Given the description of an element on the screen output the (x, y) to click on. 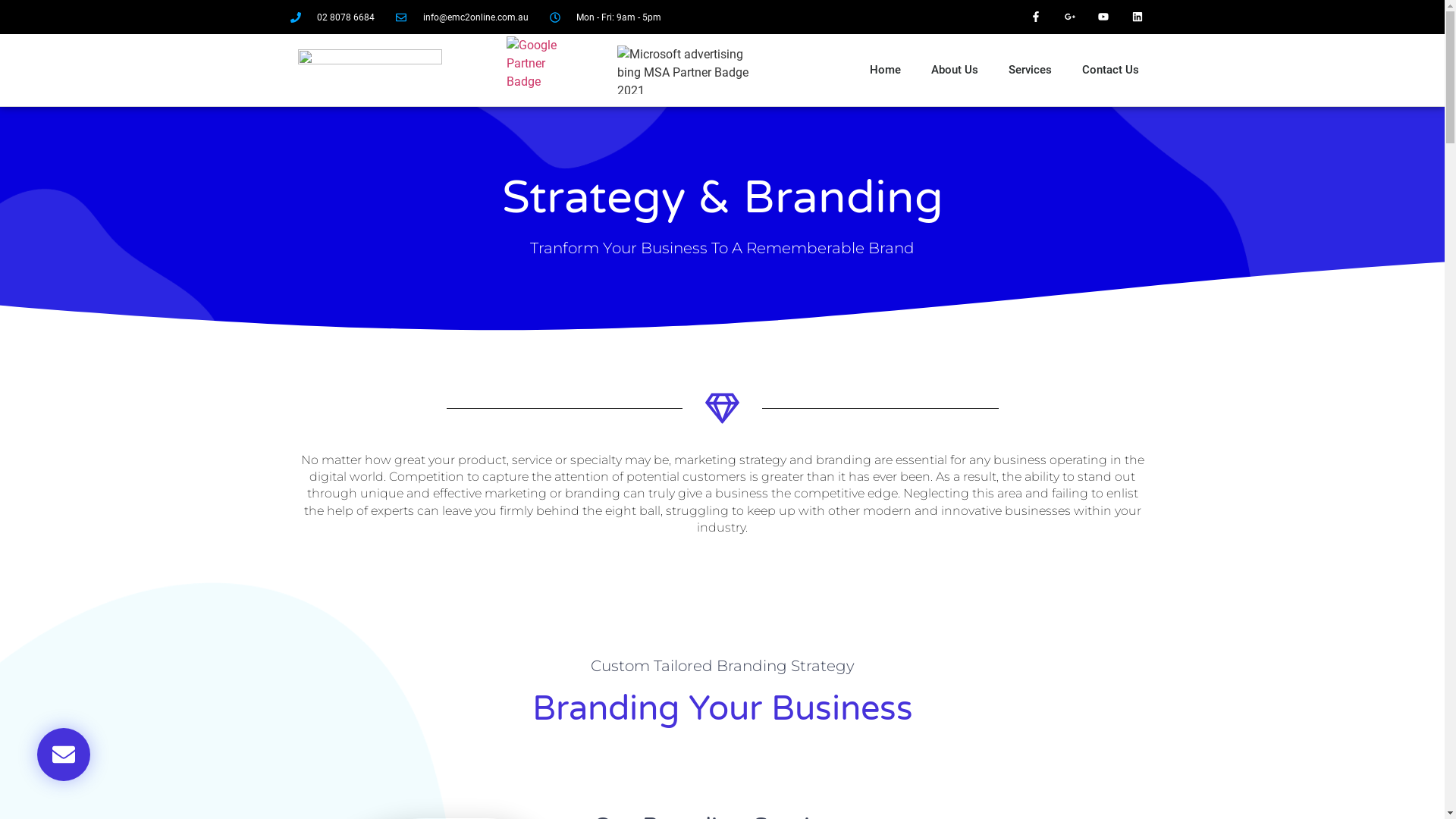
About Us Element type: text (954, 69)
Contact Us Element type: text (1110, 69)
02 8078 6684 Element type: text (331, 17)
Services Element type: text (1029, 69)
Home Element type: text (885, 69)
info@emc2online.com.au Element type: text (461, 17)
